Given the description of an element on the screen output the (x, y) to click on. 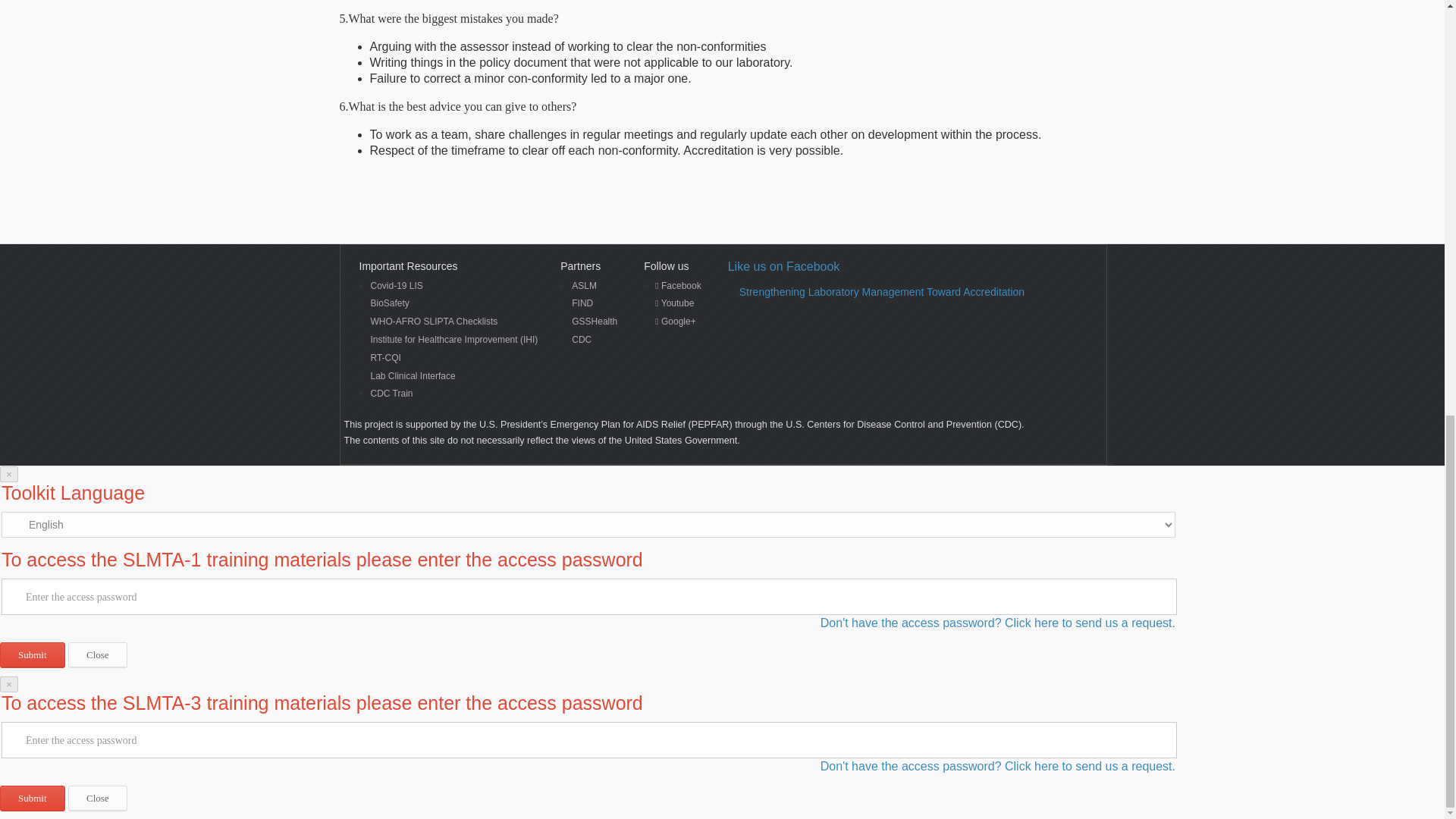
BioSafety (453, 303)
RT-CQI (453, 357)
Covid-19 LIS (453, 285)
Strengthening Laboratory Management Toward Accreditation (882, 291)
FIND (594, 303)
ASLM (594, 285)
Lab Clinical Interface (453, 376)
Please enter the access password (588, 596)
GSSHealth (594, 321)
CDC (594, 339)
Please select the tool kit language (587, 524)
Facebook (677, 285)
Please enter the access password (588, 739)
Youtube (677, 303)
